Given the description of an element on the screen output the (x, y) to click on. 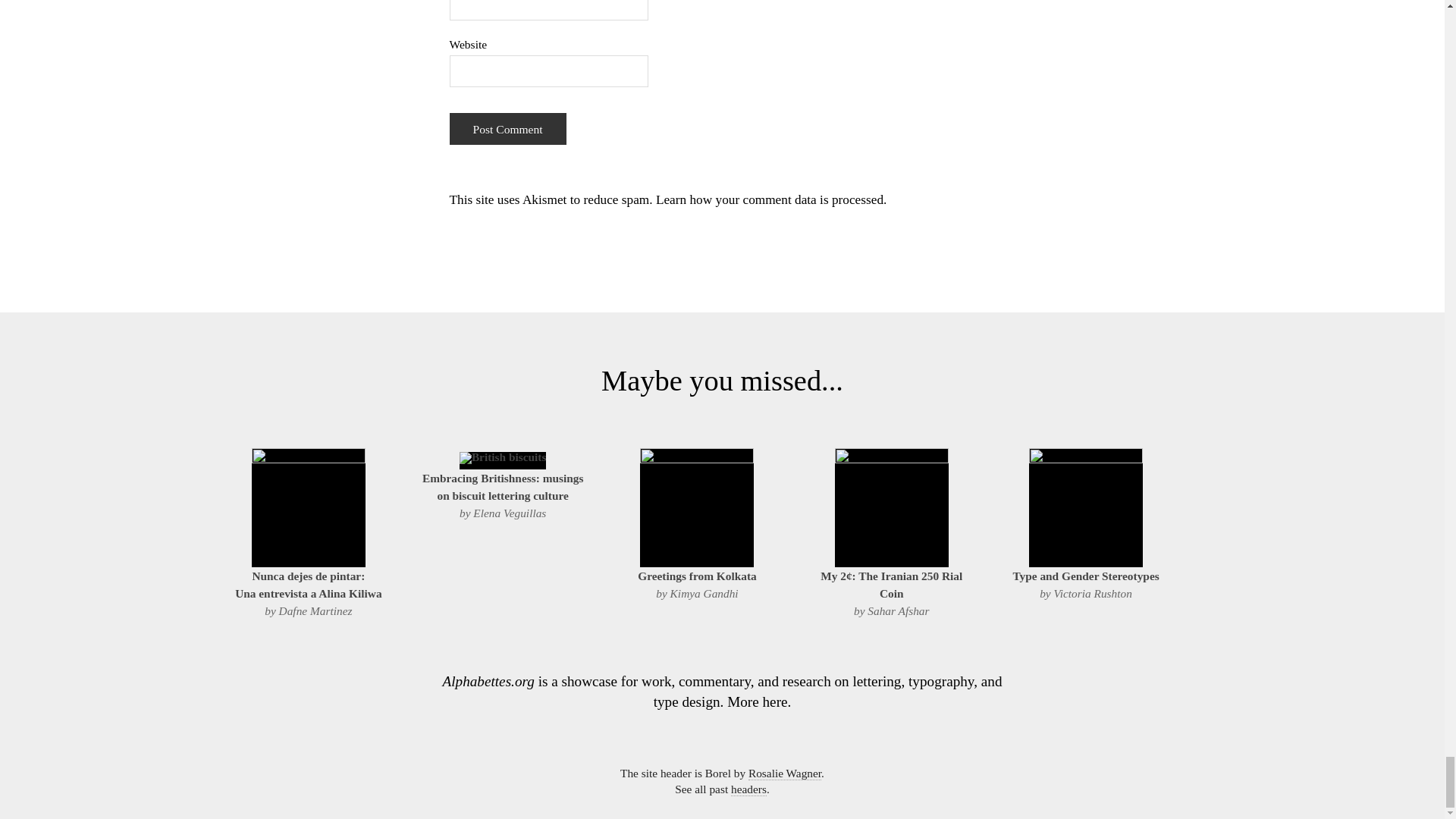
Post Comment (507, 128)
19:40 (307, 584)
08:30 (696, 575)
08:30 (697, 459)
11:51 (503, 456)
09:30 (891, 584)
09:30 (891, 459)
19:40 (308, 459)
11:51 (502, 486)
